Given the description of an element on the screen output the (x, y) to click on. 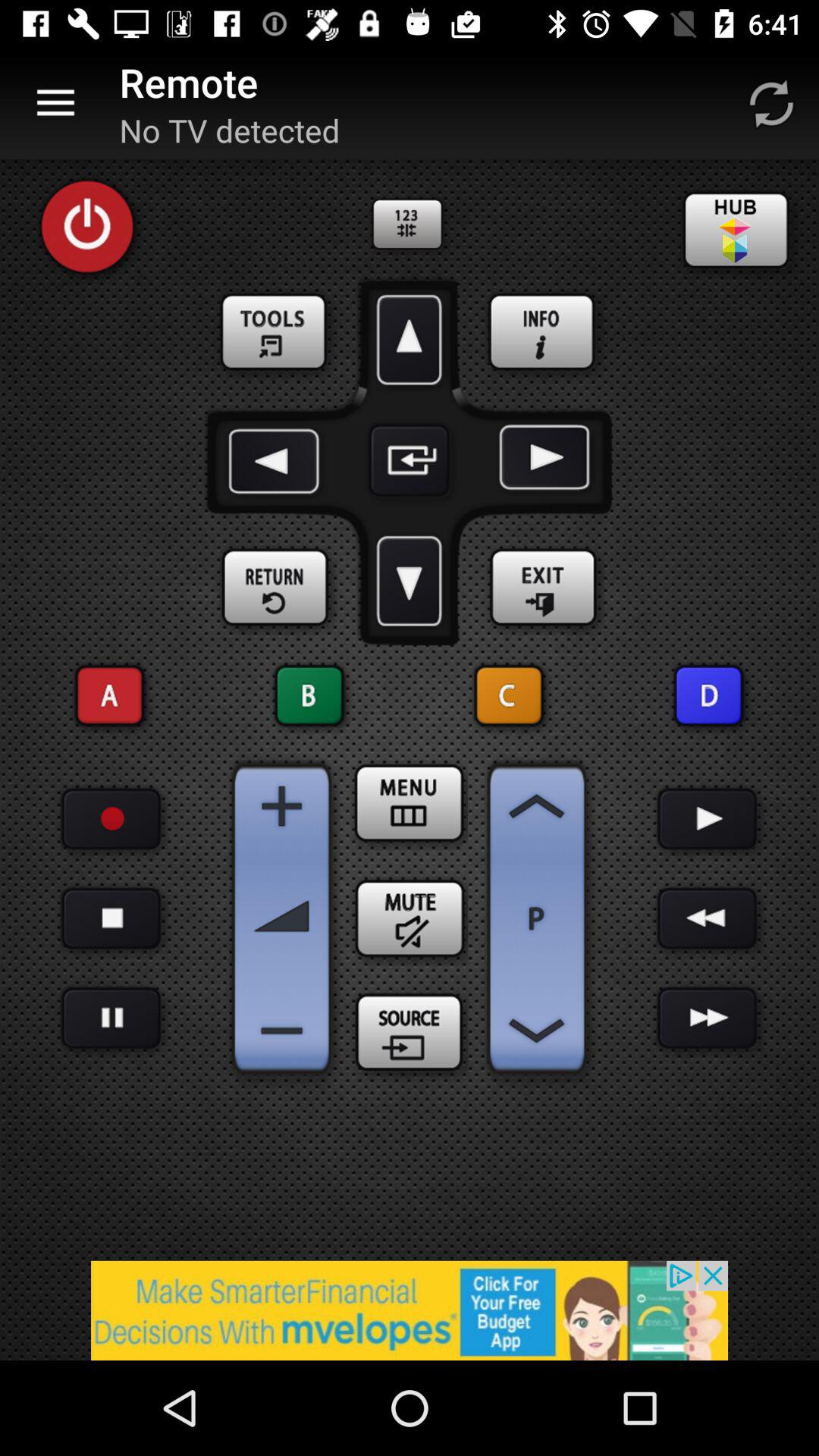
go to refresh putturn (771, 103)
